Given the description of an element on the screen output the (x, y) to click on. 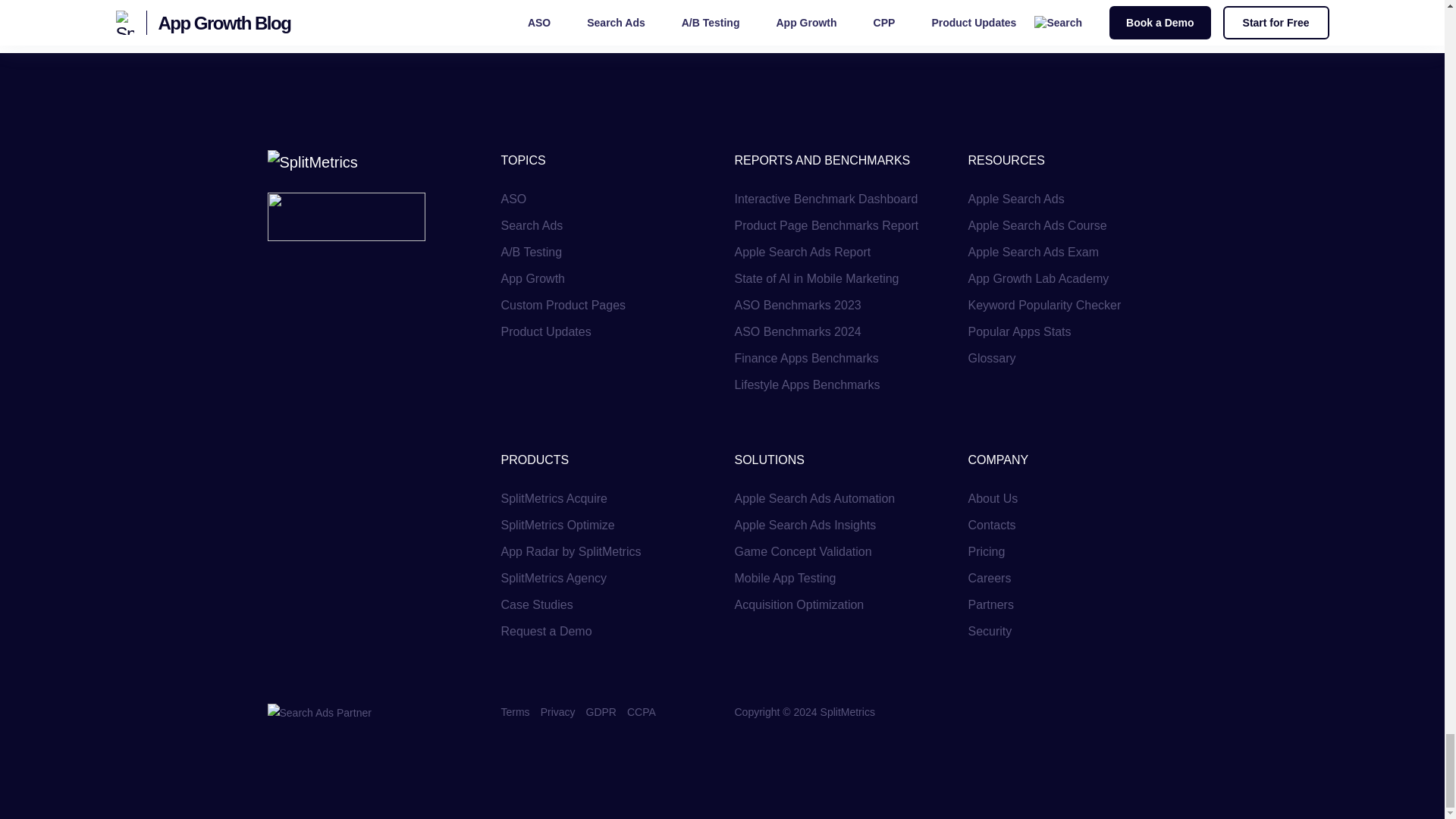
Twitter (1011, 711)
Facebook (976, 711)
LinkedIn (1080, 711)
YouTube (1045, 711)
